Given the description of an element on the screen output the (x, y) to click on. 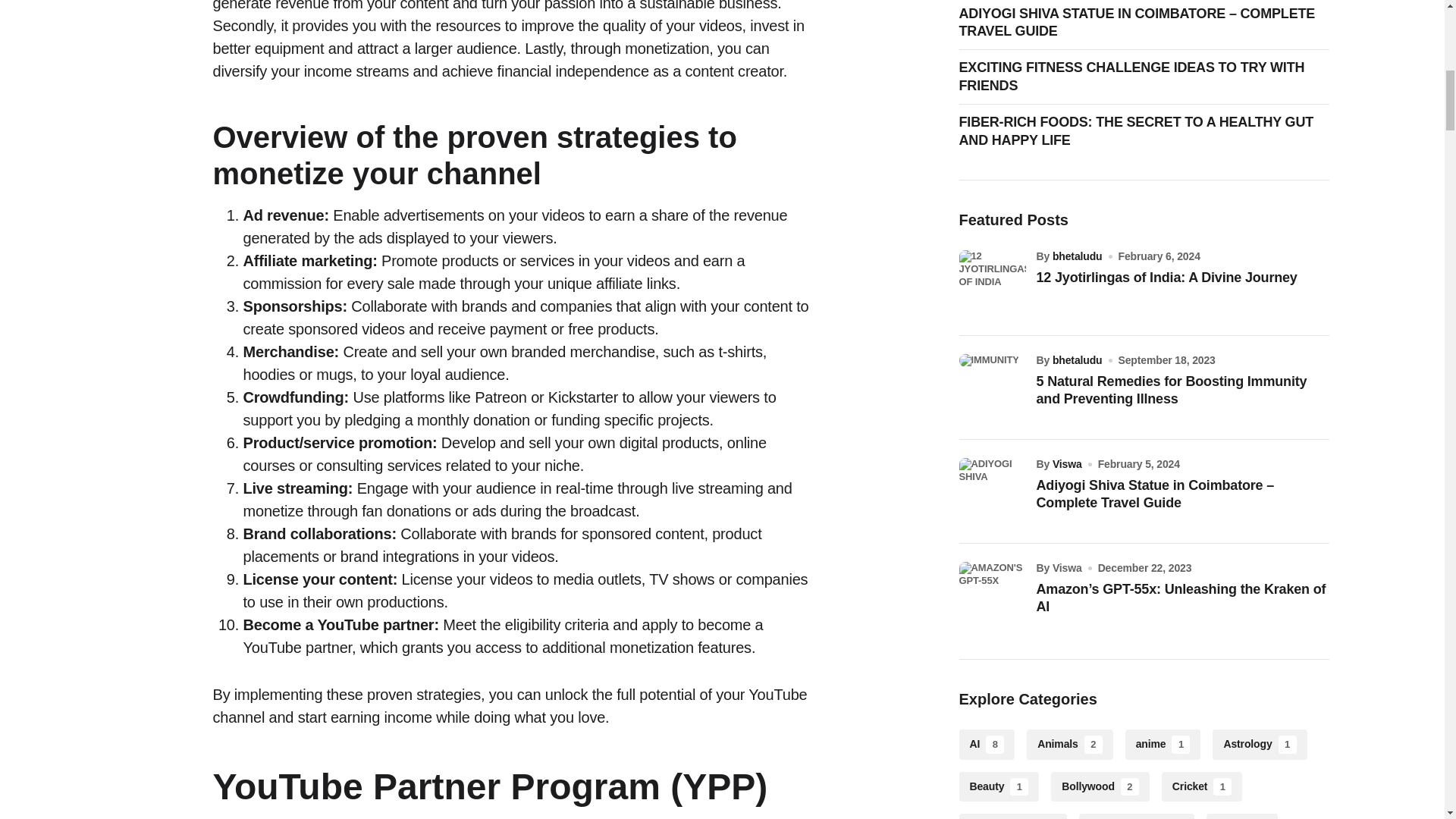
Adiyogi Shiva (991, 470)
12 Jyotirlingas of India (991, 269)
Amazon's GPT-55x (991, 574)
